Given the description of an element on the screen output the (x, y) to click on. 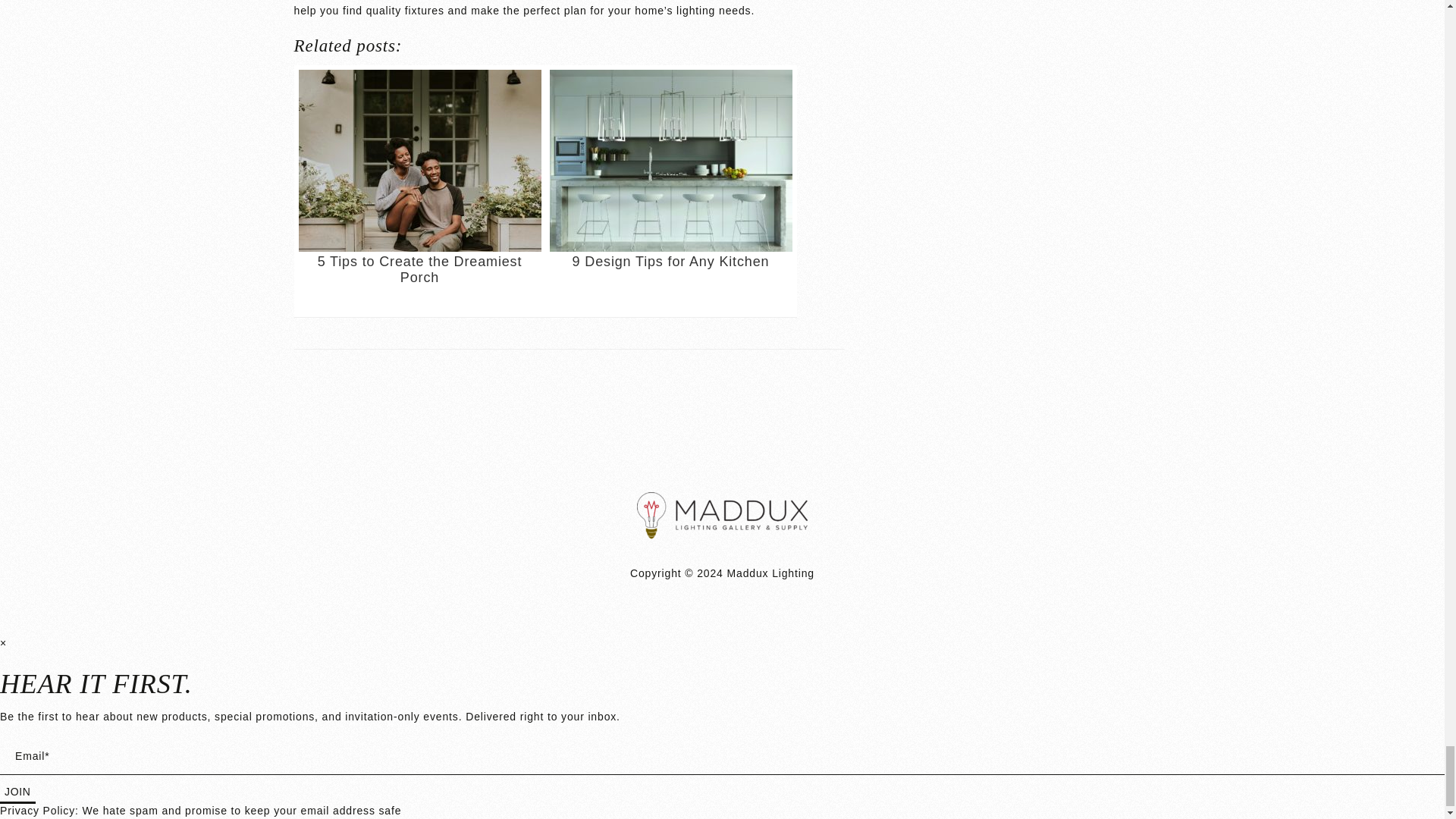
JOIN (17, 793)
9 Design Tips for Any Kitchen (670, 191)
5 Tips to Create the Dreamiest Porch (420, 191)
